Given the description of an element on the screen output the (x, y) to click on. 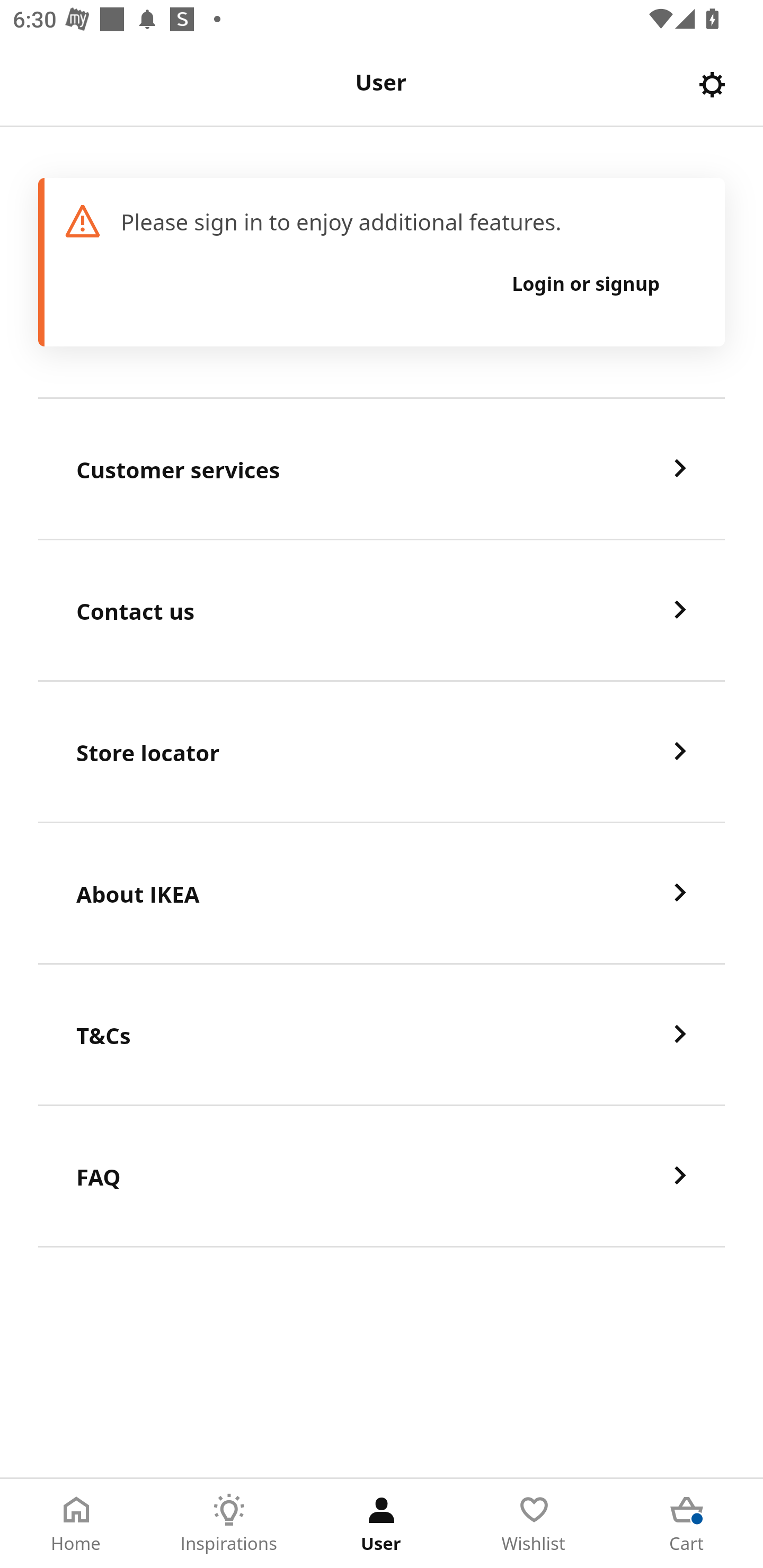
Login or signup (586, 282)
Customer services (381, 469)
Contact us (381, 611)
Store locator (381, 752)
About IKEA (381, 893)
T&Cs (381, 1034)
FAQ (381, 1176)
Home
Tab 1 of 5 (76, 1522)
Inspirations
Tab 2 of 5 (228, 1522)
User
Tab 3 of 5 (381, 1522)
Wishlist
Tab 4 of 5 (533, 1522)
Cart
Tab 5 of 5 (686, 1522)
